Given the description of an element on the screen output the (x, y) to click on. 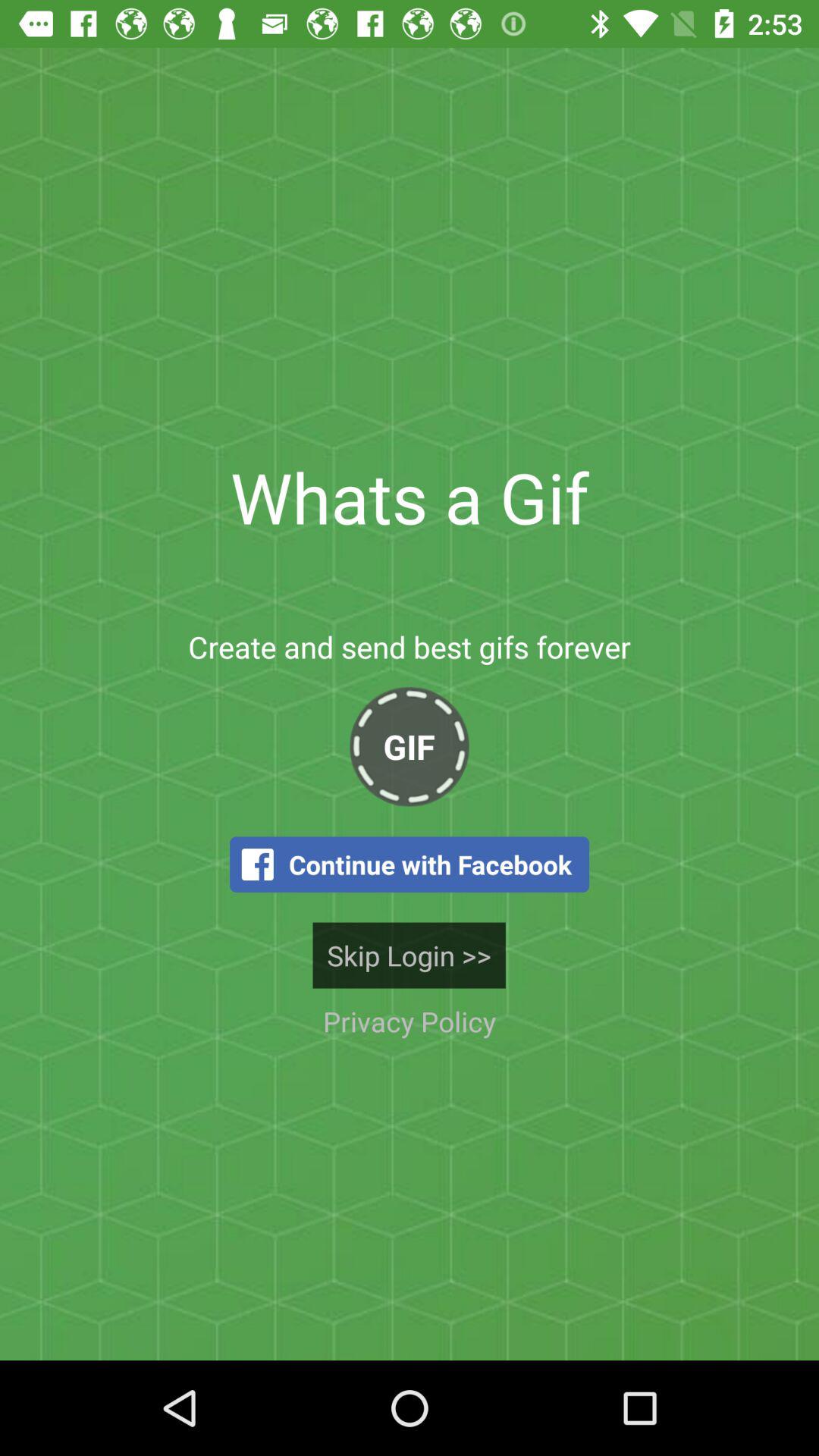
turn off icon below skip login >> item (409, 1021)
